Given the description of an element on the screen output the (x, y) to click on. 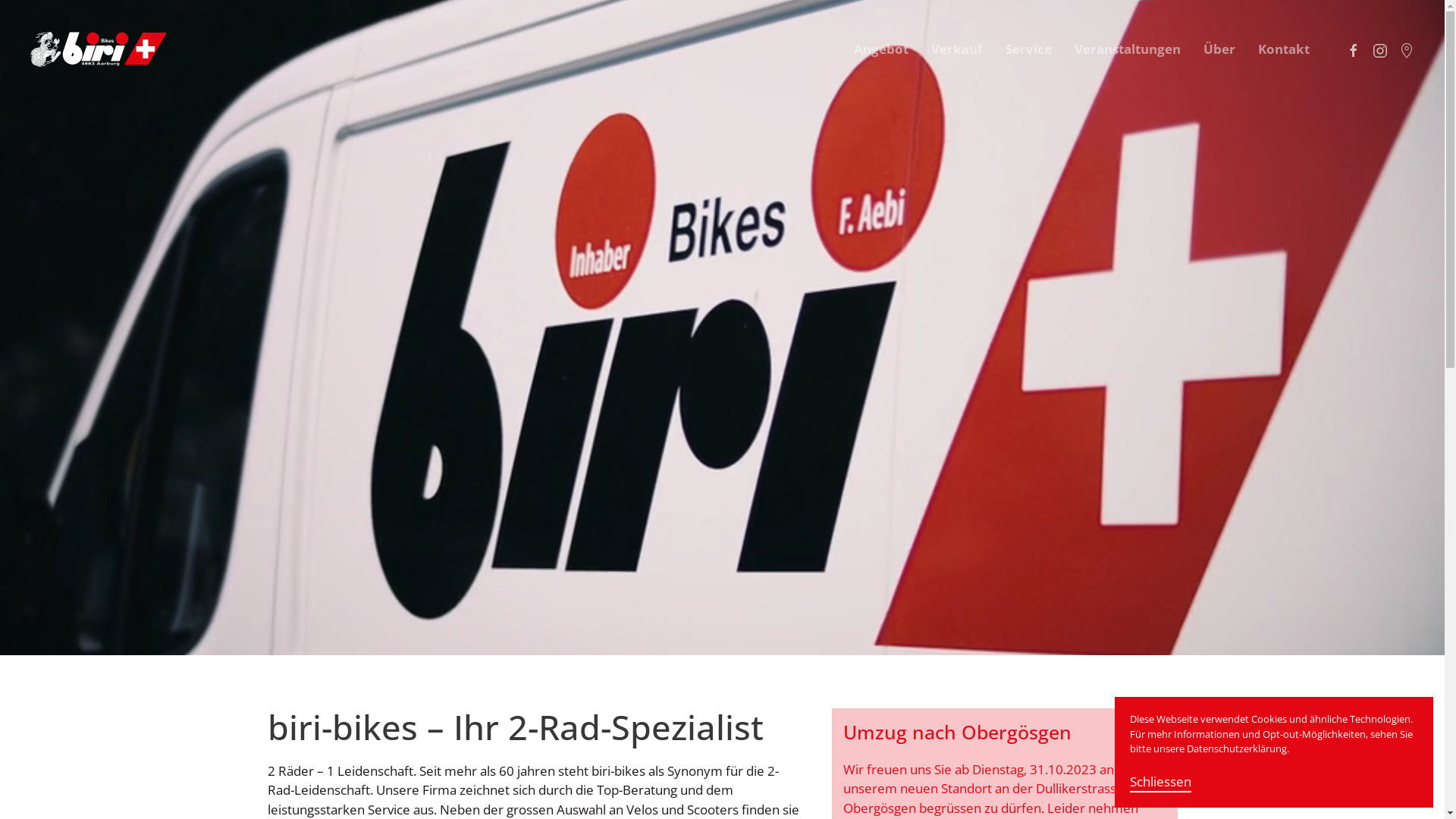
Schliessen Element type: text (1160, 782)
Kontakt Element type: text (1283, 49)
Service Element type: text (1028, 49)
Verkauf Element type: text (956, 49)
Angebot Element type: text (880, 49)
Veranstaltungen Element type: text (1127, 49)
